Given the description of an element on the screen output the (x, y) to click on. 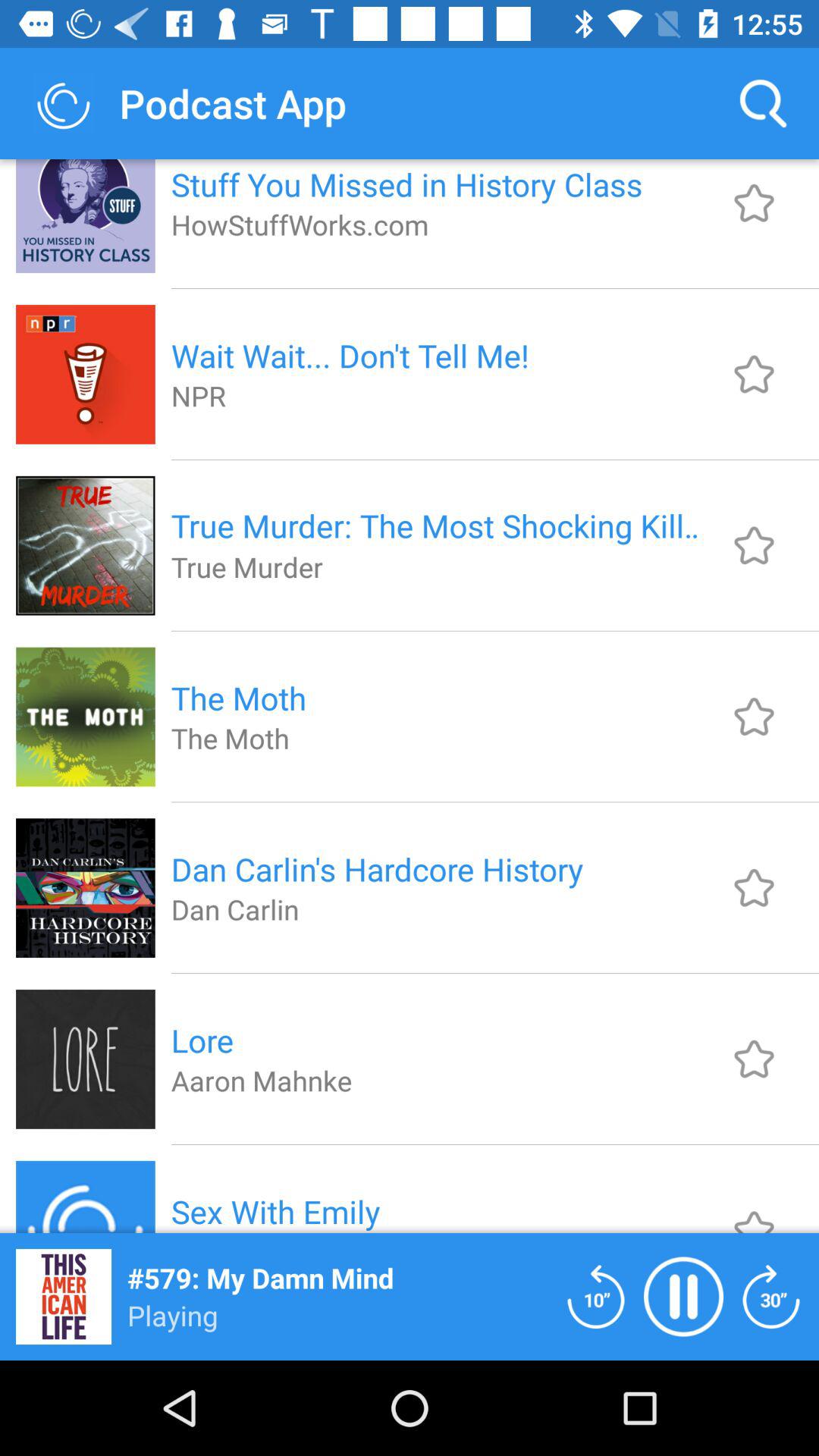
favorite image (754, 1058)
